Given the description of an element on the screen output the (x, y) to click on. 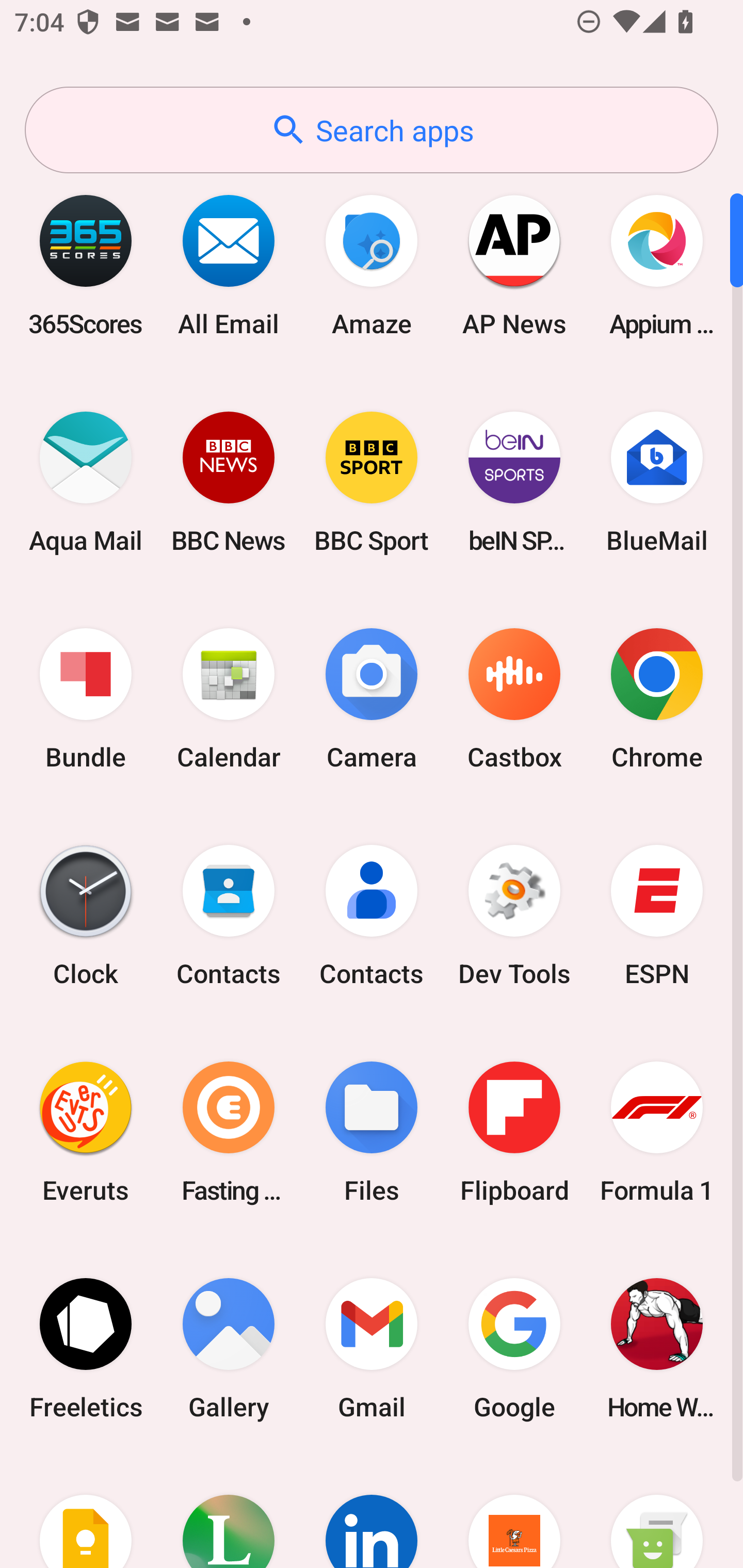
  Search apps (371, 130)
365Scores (85, 264)
All Email (228, 264)
Amaze (371, 264)
AP News (514, 264)
Appium Settings (656, 264)
Aqua Mail (85, 482)
BBC News (228, 482)
BBC Sport (371, 482)
beIN SPORTS (514, 482)
BlueMail (656, 482)
Bundle (85, 699)
Calendar (228, 699)
Camera (371, 699)
Castbox (514, 699)
Chrome (656, 699)
Clock (85, 915)
Contacts (228, 915)
Contacts (371, 915)
Dev Tools (514, 915)
ESPN (656, 915)
Everuts (85, 1131)
Fasting Coach (228, 1131)
Files (371, 1131)
Flipboard (514, 1131)
Formula 1 (656, 1131)
Freeletics (85, 1348)
Gallery (228, 1348)
Gmail (371, 1348)
Google (514, 1348)
Home Workout (656, 1348)
